Given the description of an element on the screen output the (x, y) to click on. 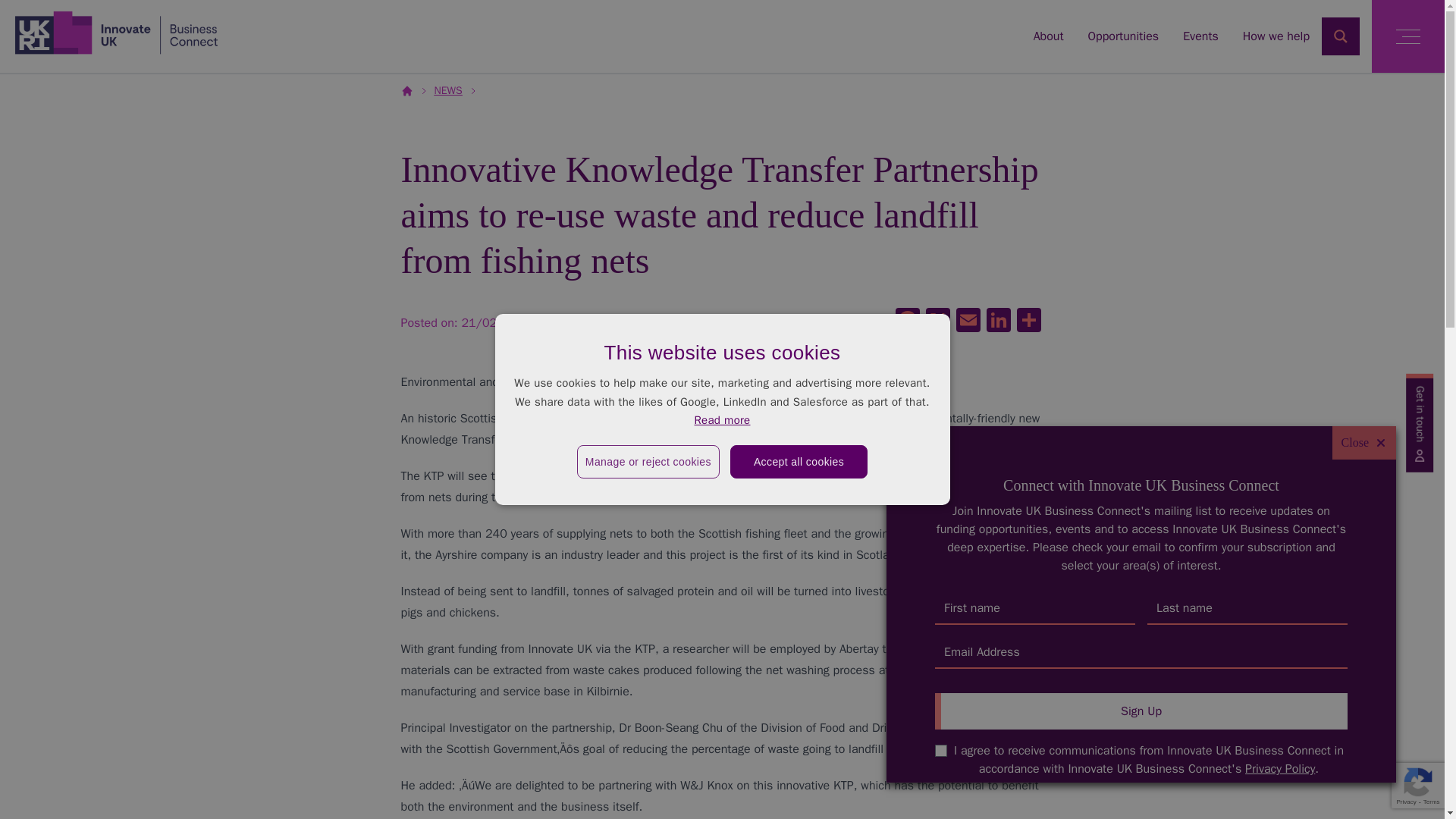
Events (1200, 36)
Facebook (906, 321)
on (940, 750)
LinkedIn (997, 321)
X (936, 321)
Email (967, 321)
Sign Up (1141, 710)
Opportunities (1122, 36)
About (1048, 36)
Home (116, 32)
How we help (1275, 36)
